Given the description of an element on the screen output the (x, y) to click on. 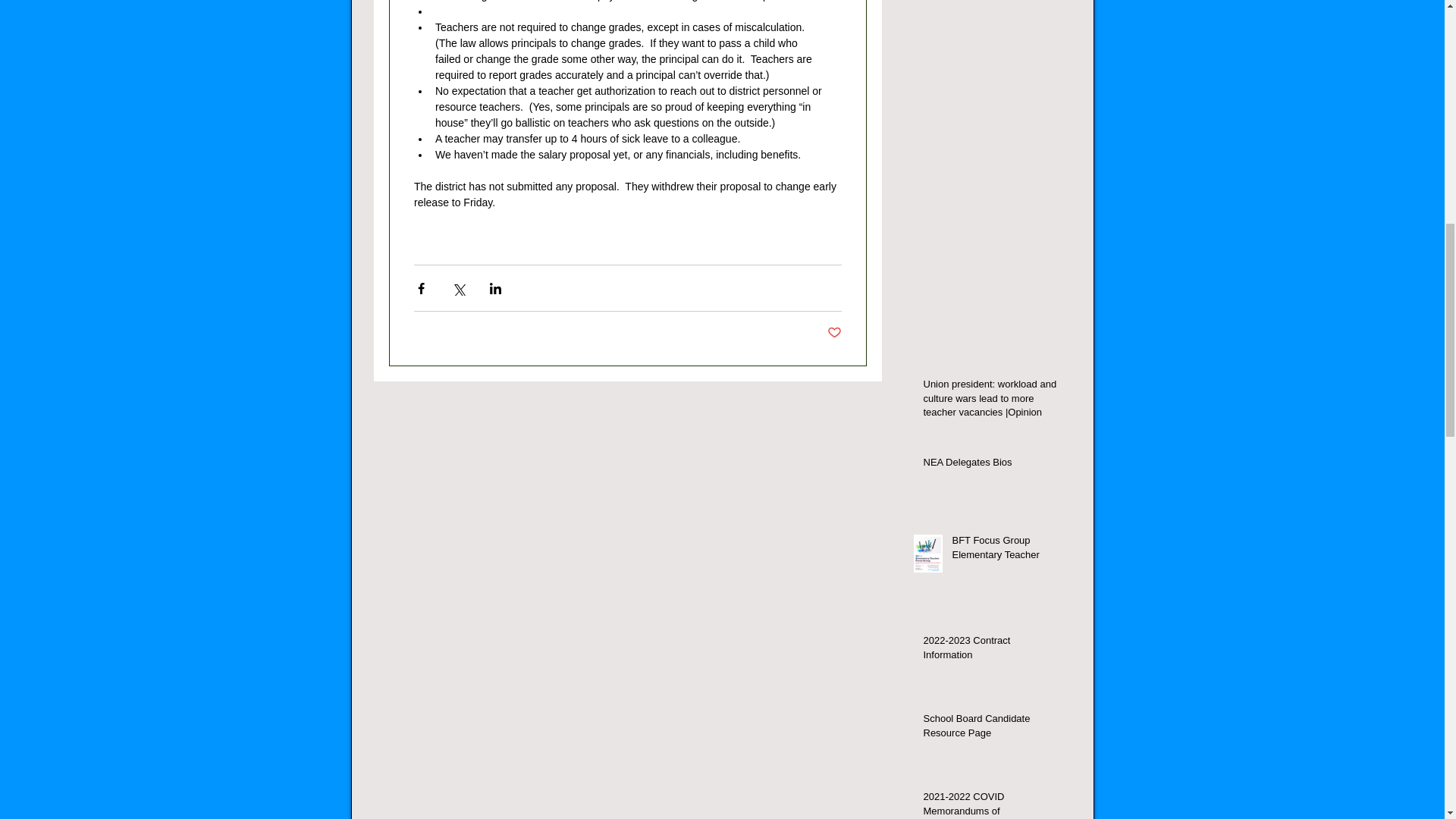
Post not marked as liked (834, 333)
NEA Delegates Bios (992, 465)
2022-2023 Contract Information (992, 650)
BFT Focus Group Elementary Teacher (1006, 550)
School Board Candidate Resource Page (992, 728)
2021-2022 COVID Memorandums of Understanding (992, 804)
